Given the description of an element on the screen output the (x, y) to click on. 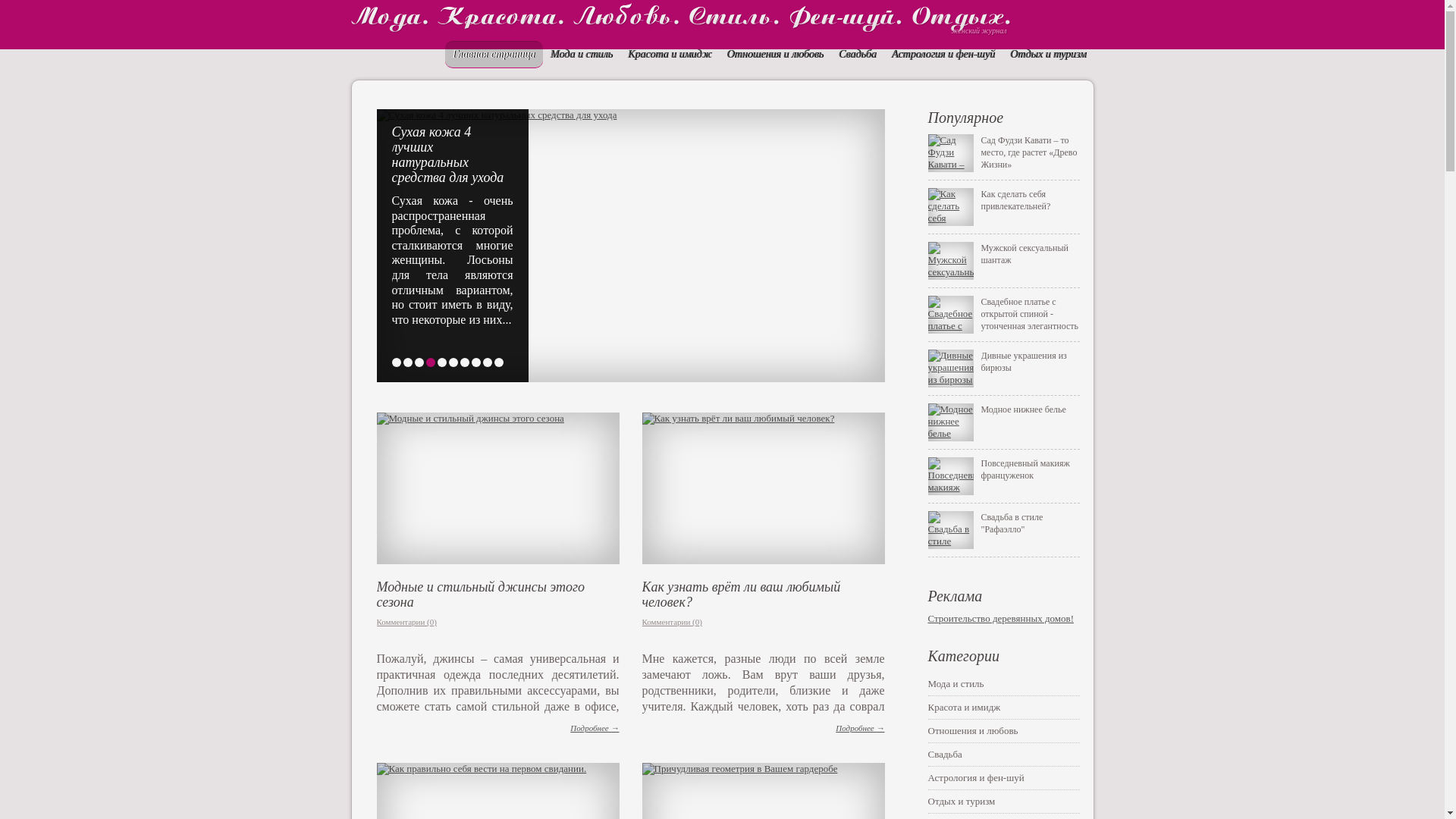
5 Element type: text (440, 362)
1 Element type: text (395, 362)
7 Element type: text (463, 362)
3 Element type: text (418, 362)
8 Element type: text (475, 362)
2 Element type: text (407, 362)
9 Element type: text (486, 362)
10 Element type: text (498, 362)
4 Element type: text (430, 362)
6 Element type: text (453, 362)
